Given the description of an element on the screen output the (x, y) to click on. 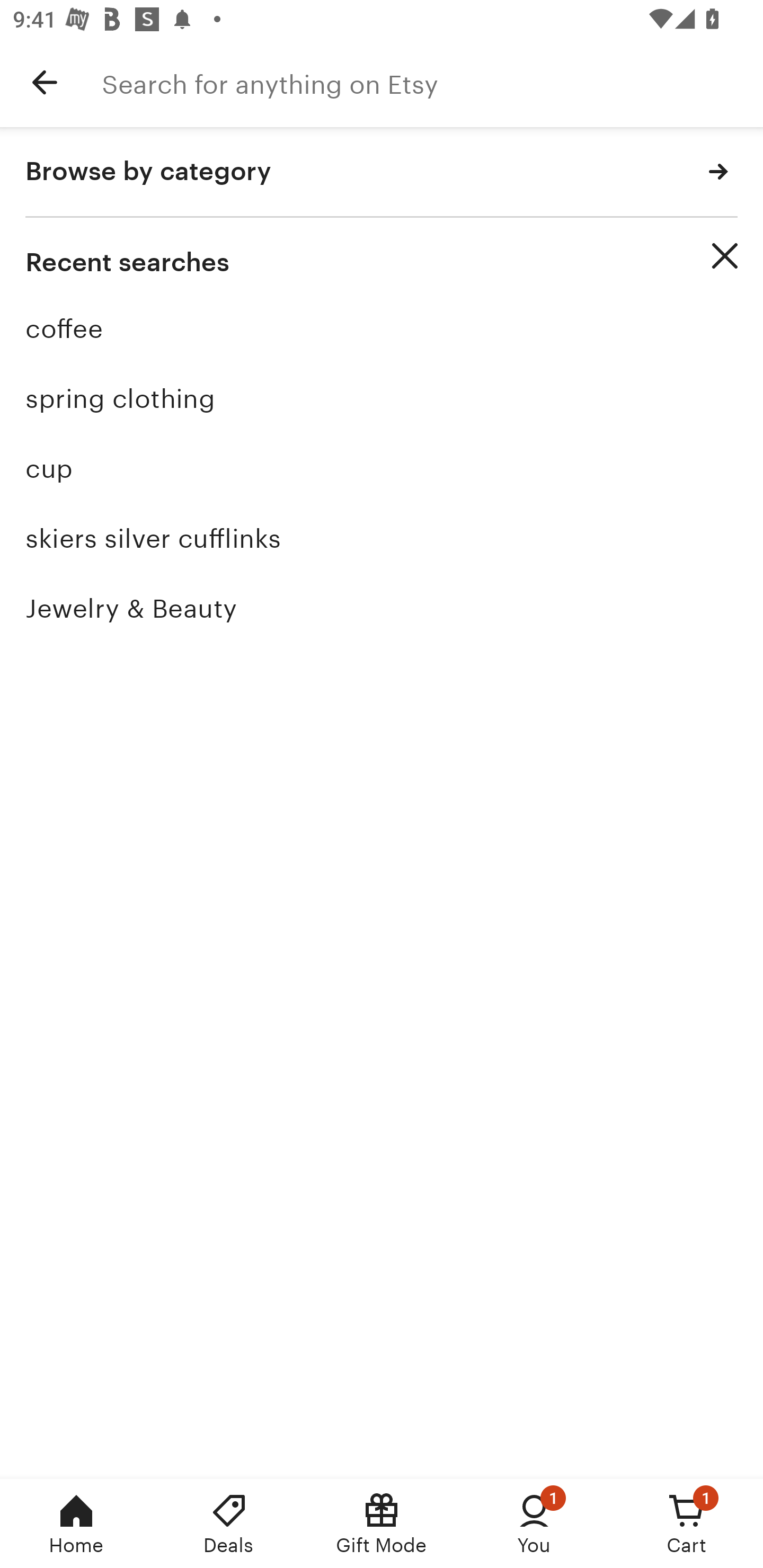
Navigate up (44, 82)
Search for anything on Etsy (432, 82)
Browse by category (381, 172)
Clear (724, 255)
coffee (381, 328)
spring clothing (381, 398)
cup (381, 468)
skiers silver cufflinks (381, 538)
Jewelry & Beauty (381, 607)
Deals (228, 1523)
Gift Mode (381, 1523)
You, 1 new notification You (533, 1523)
Cart, 1 new notification Cart (686, 1523)
